Given the description of an element on the screen output the (x, y) to click on. 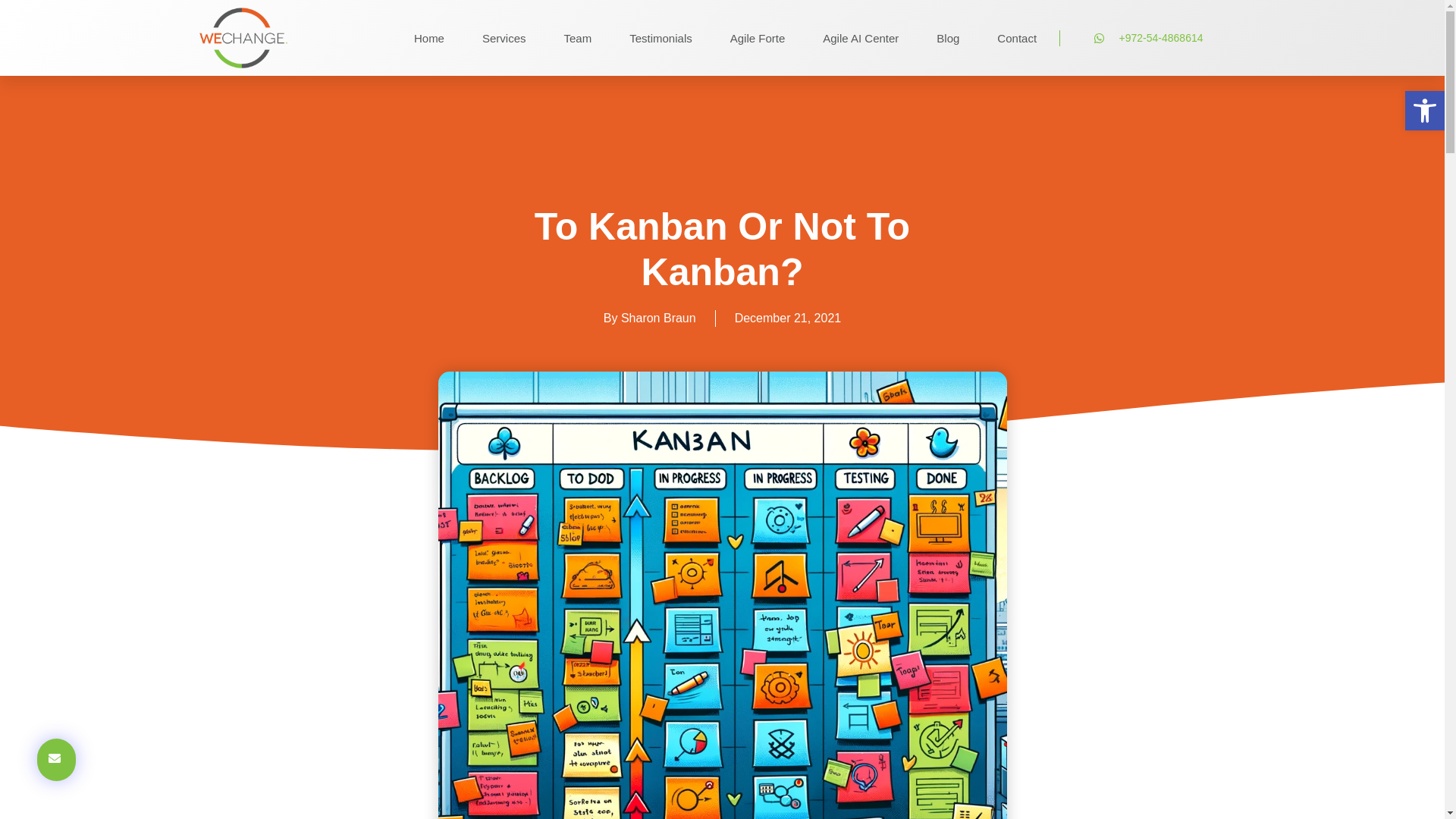
Accessibility Tools (1424, 110)
Testimonials (660, 37)
Agile AI Center (860, 37)
